Given the description of an element on the screen output the (x, y) to click on. 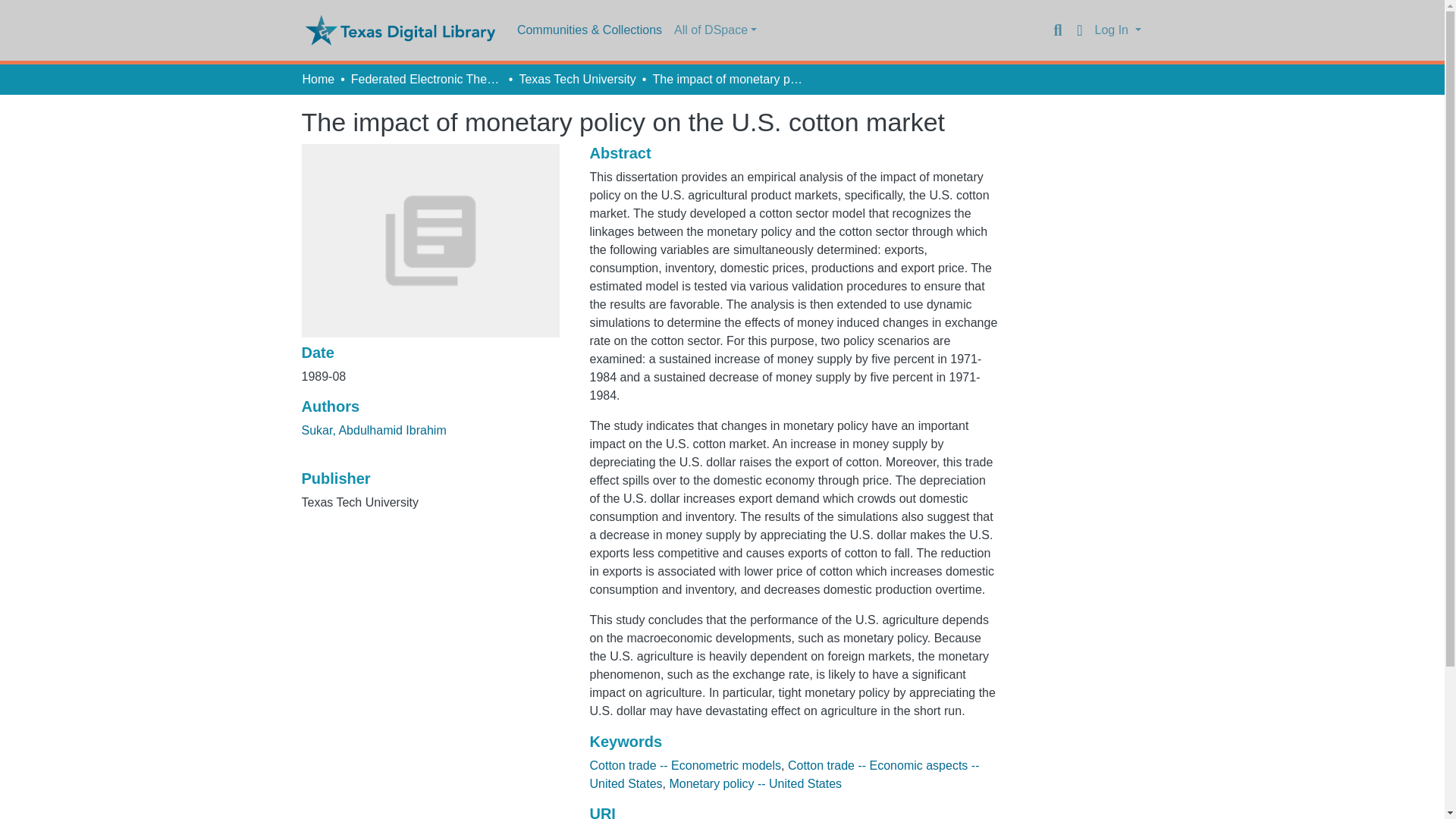
Language switch (1079, 30)
Texas Tech University (576, 79)
All of DSpace (715, 30)
Cotton trade -- Economic aspects -- United States (783, 774)
Home (317, 79)
Federated Electronic Theses and Dissertations (426, 79)
Cotton trade -- Econometric models (684, 765)
Sukar, Abdulhamid Ibrahim (373, 430)
Monetary policy -- United States (754, 783)
Log In (1117, 30)
Search (1057, 30)
